Given the description of an element on the screen output the (x, y) to click on. 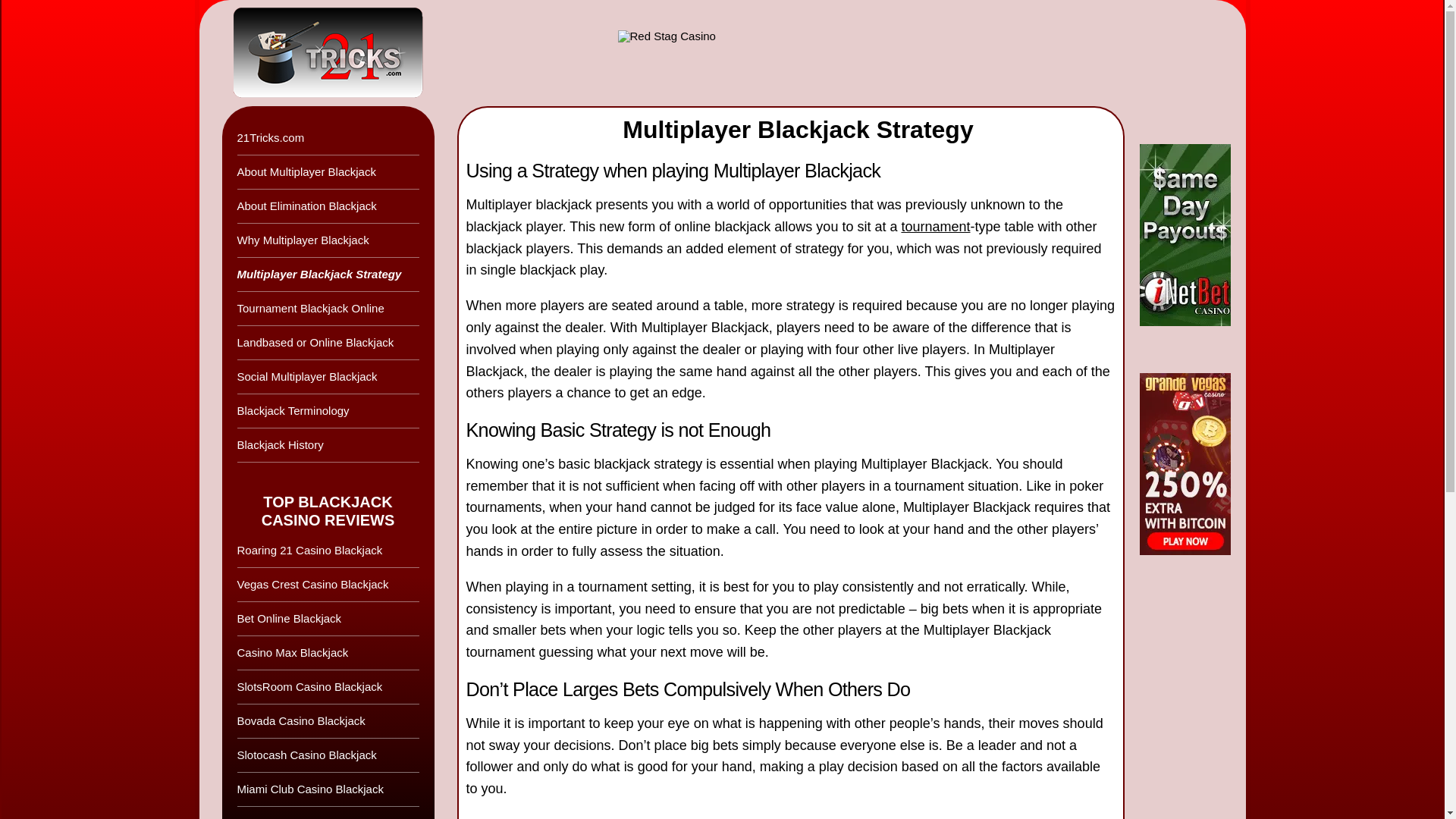
Bovada Casino Blackjack Element type: text (327, 721)
Grande Vegas Casino Element type: hover (1184, 550)
Slotocash Casino Blackjack Element type: text (327, 755)
Roaring 21 Casino Blackjack Element type: text (327, 550)
SlotsRoom Casino Blackjack Element type: text (327, 687)
Miami Club Casino Blackjack Element type: text (327, 789)
Blackjack Terminology Element type: text (327, 411)
Multiplayer Blackjack Strategy Element type: text (327, 274)
Tournament Blackjack Online Element type: text (327, 308)
Blackjack History Element type: text (327, 445)
Casino Max Blackjack Element type: text (327, 653)
Why Multiplayer Blackjack Element type: text (327, 240)
The Multiplayer Blackjack Guide | Home page Element type: hover (310, 52)
Inet Bet Casino Element type: hover (1184, 321)
About Elimination Blackjack Element type: text (327, 206)
About Multiplayer Blackjack Element type: text (327, 172)
Skip to content Element type: text (262, 20)
Bet Online Blackjack Element type: text (327, 619)
Inet Bet Casino Element type: hover (794, 52)
Landbased or Online Blackjack Element type: text (327, 343)
Social Multiplayer Blackjack Element type: text (327, 377)
21Tricks.com Element type: text (327, 138)
Vegas Crest Casino Blackjack Element type: text (327, 584)
